Given the description of an element on the screen output the (x, y) to click on. 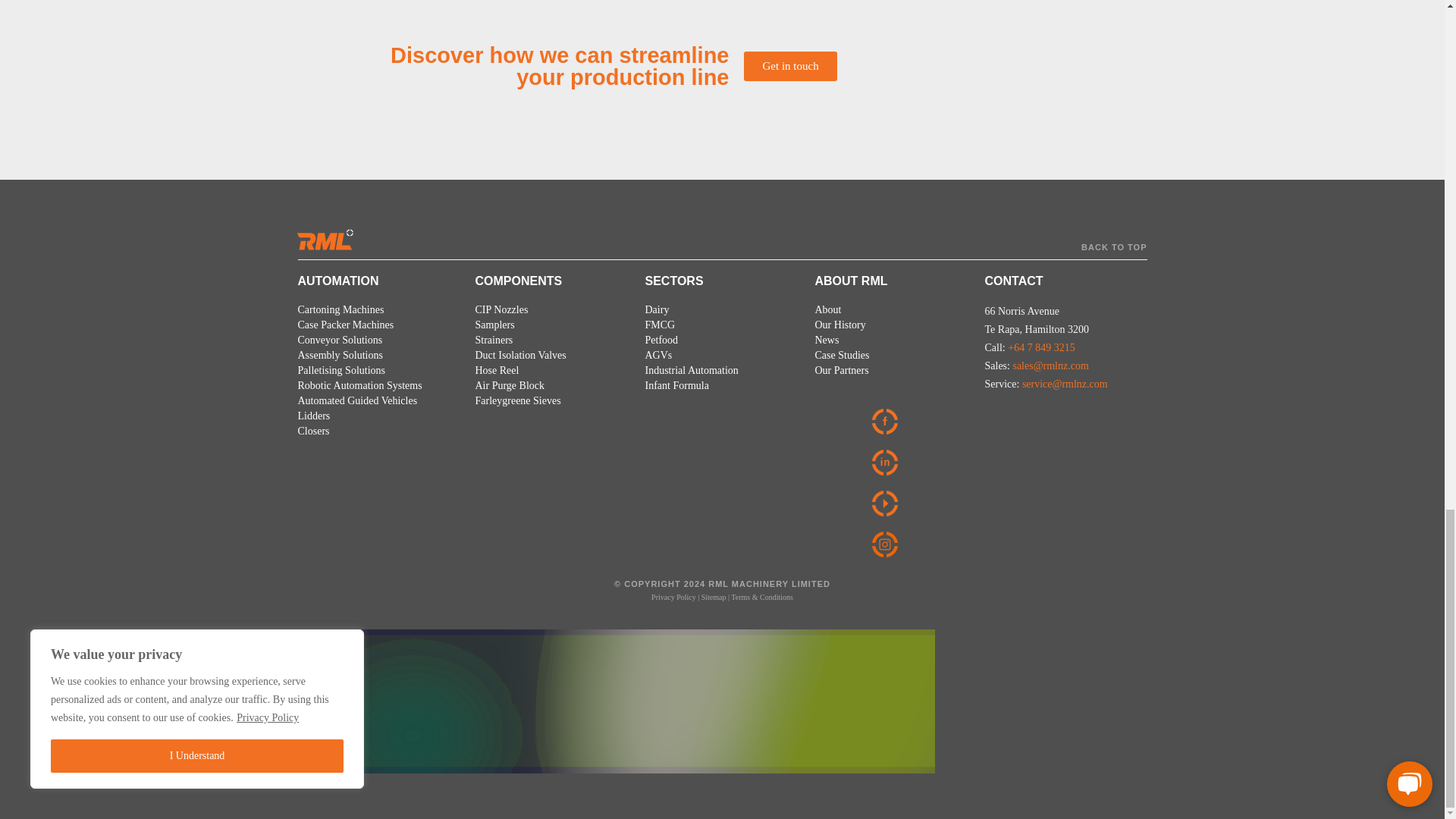
RML Linked in icon (889, 462)
RML Facebook icon (889, 421)
RML Youtube (888, 503)
Instagram Icon (888, 544)
